Given the description of an element on the screen output the (x, y) to click on. 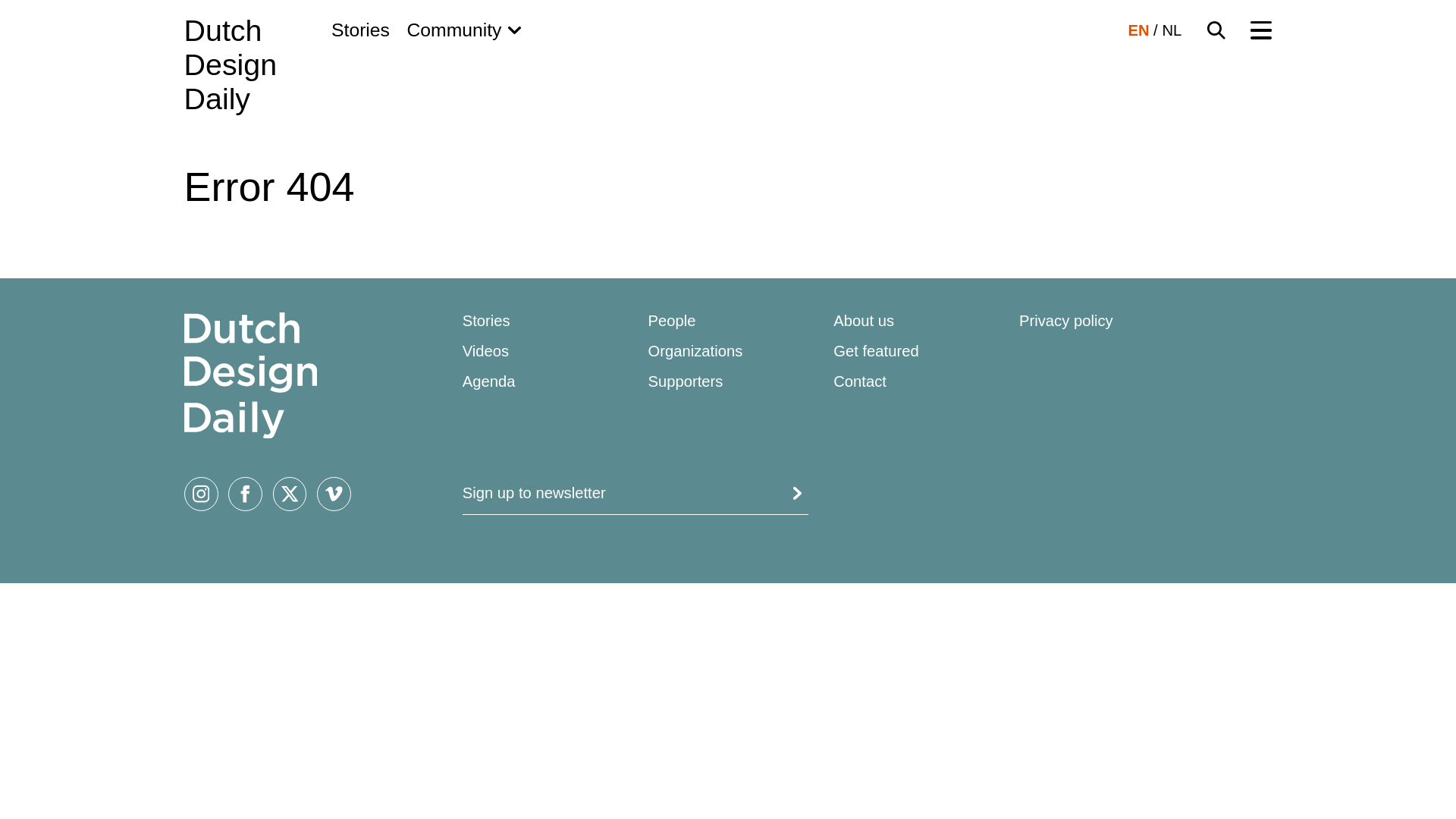
EN (1137, 30)
Privacy policy (1066, 320)
NL (1170, 30)
People (671, 320)
Organizations (694, 351)
Videos (486, 351)
Community (463, 30)
Supporters (684, 381)
About us (230, 64)
